Given the description of an element on the screen output the (x, y) to click on. 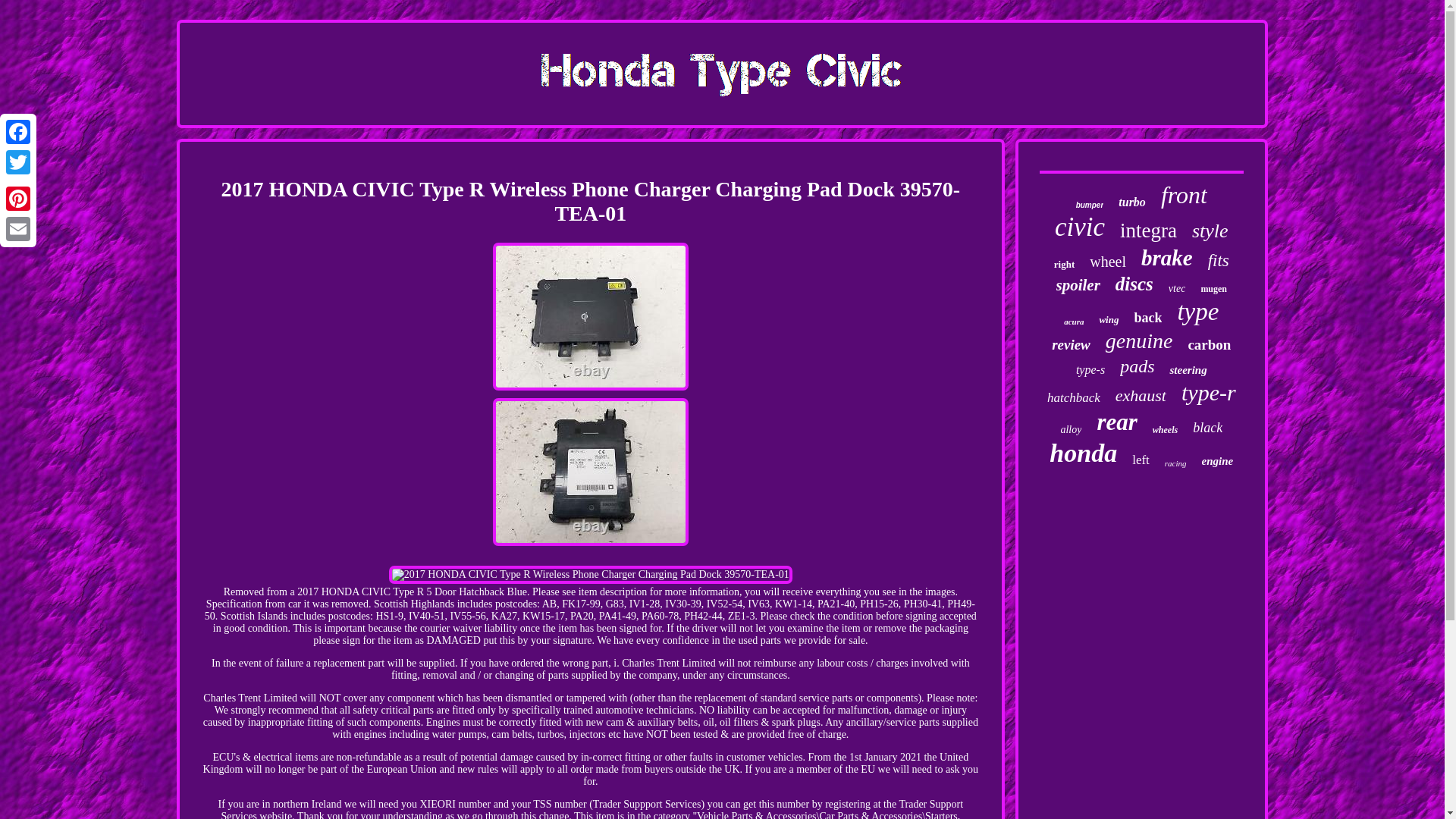
discs (1134, 283)
Email (17, 228)
type (1197, 311)
civic (1079, 227)
type-s (1090, 369)
spoiler (1077, 285)
exhaust (1140, 395)
right (1064, 264)
back (1147, 317)
